Given the description of an element on the screen output the (x, y) to click on. 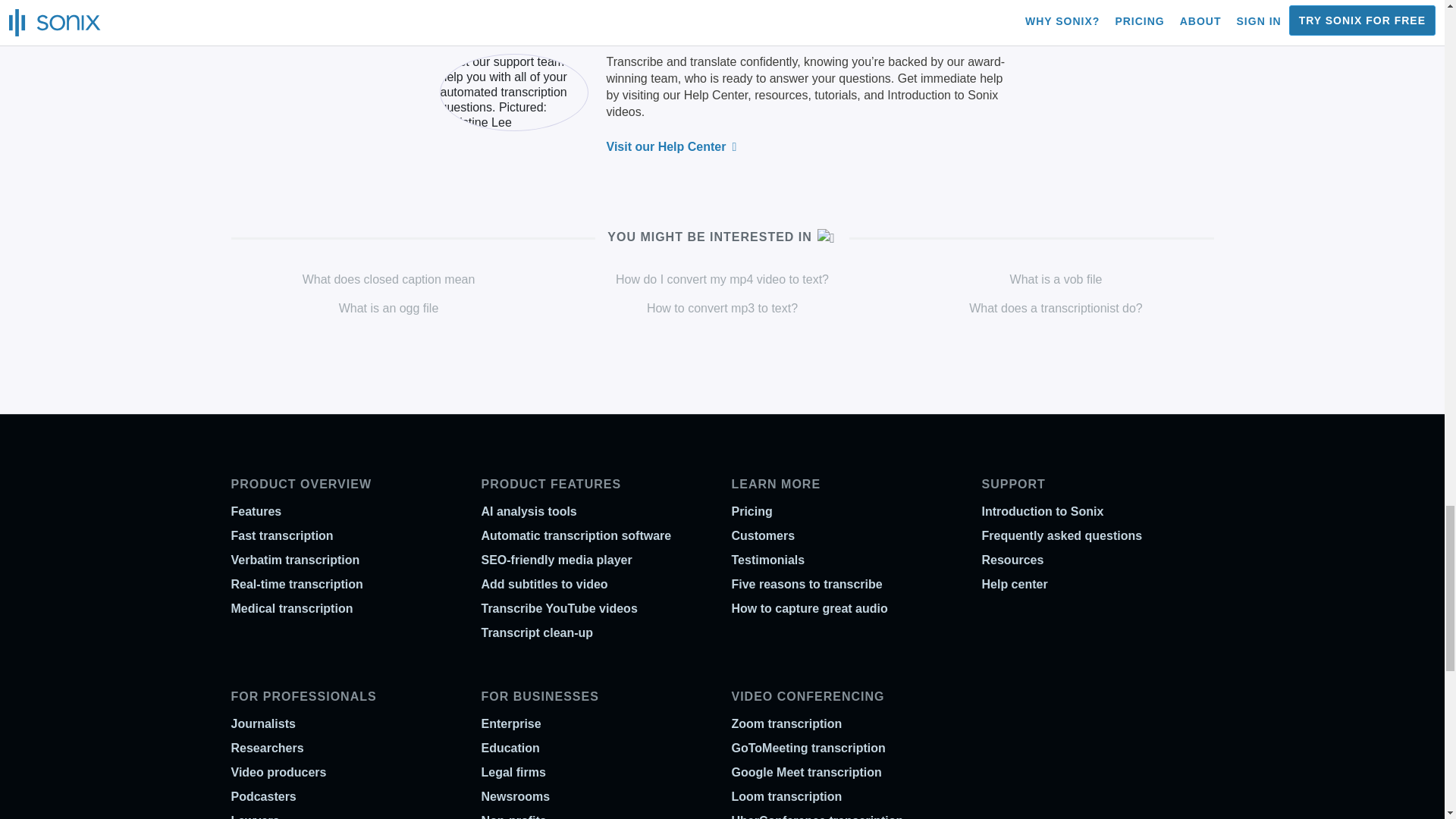
Real-time transcription (296, 584)
Help Center (716, 94)
What does a transcriptionist do? (1055, 308)
AI analysis tools (528, 511)
How do I convert my mp4 video to text? (721, 278)
Medical transcription (291, 608)
SEO-friendly media player (555, 559)
What is a vob file (1056, 278)
How to convert mp3 to text? (721, 308)
What does closed caption mean (389, 278)
Visit our Help Center (672, 146)
and Introduction to Sonix videos (802, 102)
Fast transcription (281, 535)
Verbatim transcription (294, 559)
Automatic transcription software (575, 535)
